Given the description of an element on the screen output the (x, y) to click on. 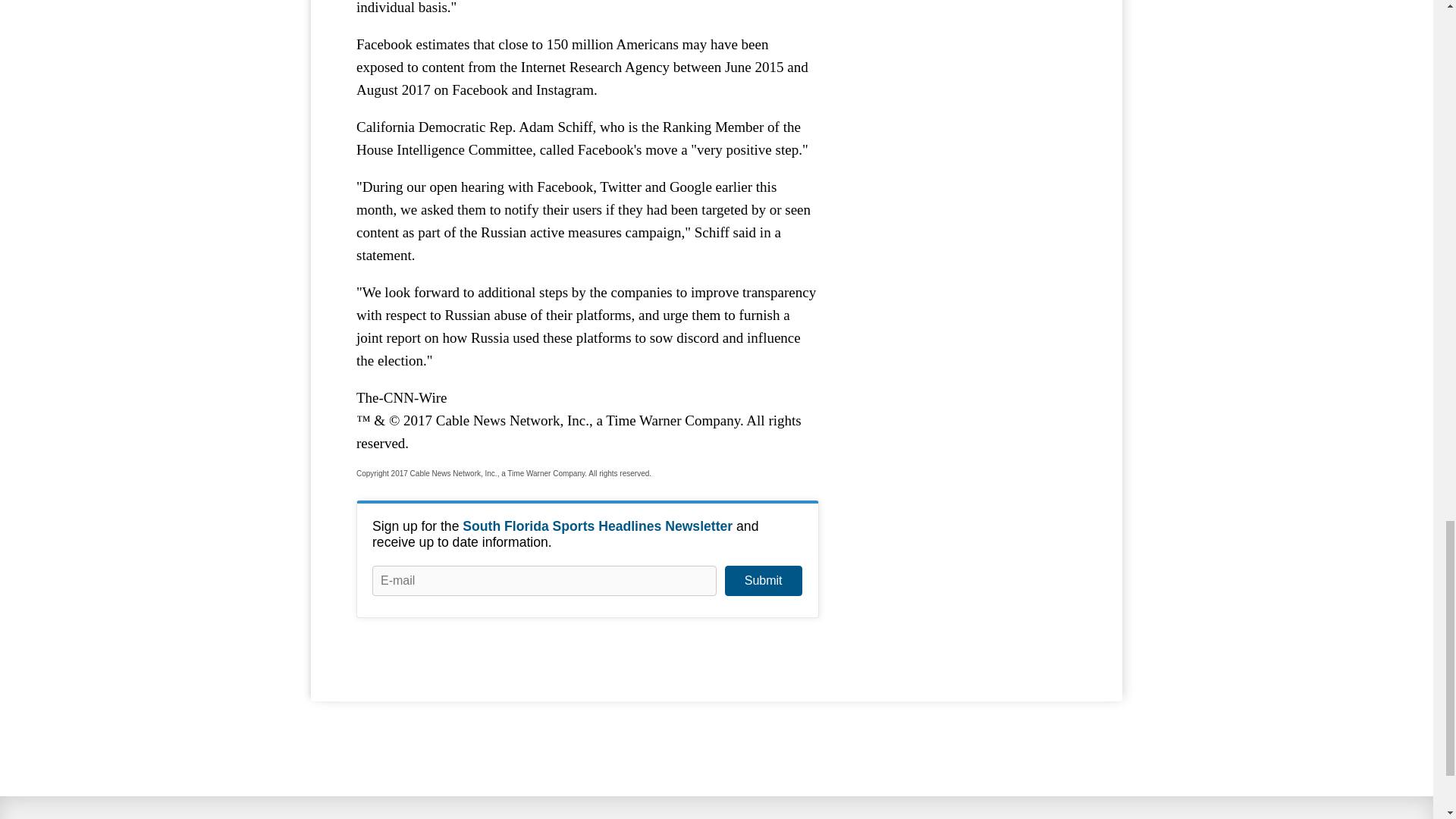
Submit (763, 580)
